Given the description of an element on the screen output the (x, y) to click on. 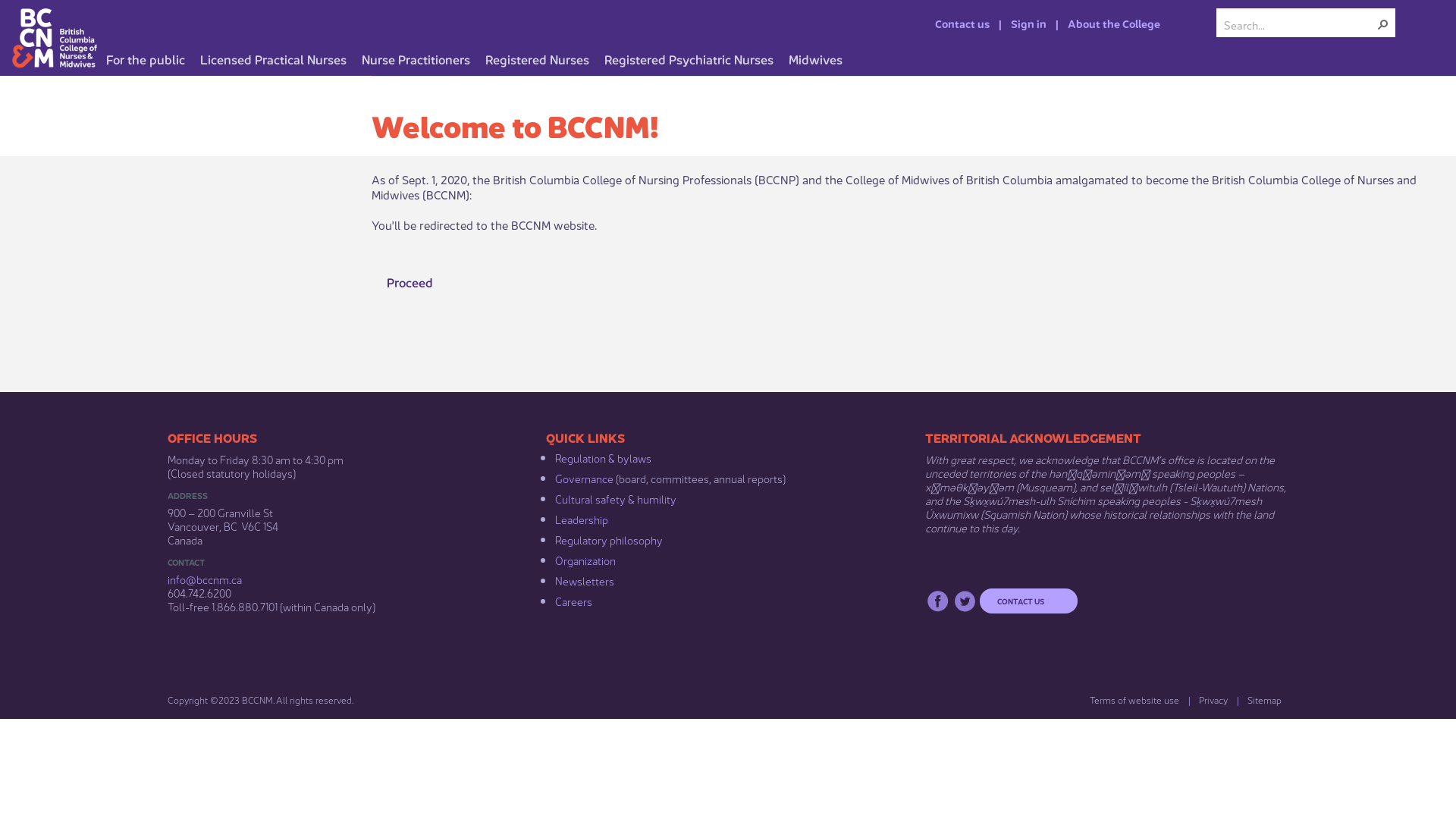
Facebook Element type: text (937, 600)
Regulation & bylaws Element type: text (603, 456)
CONTACT US Element type: text (1028, 600)
Newsletters Element type: text (584, 579)
Twitter Element type: text (964, 600)
Organization Element type: text (585, 559)
Leadership Element type: text (581, 518)
Careers Element type: text (573, 600)
Contact us Element type: text (952, 22)
Privacy Element type: text (1207, 699)
Sitemap Element type: text (1258, 699)
Proceed Element type: text (411, 281)
info@bccnm.ca Element type: text (204, 578)
Search... Element type: hover (1299, 23)
Terms of website use Element type: text (1130, 699)
Search Element type: hover (1382, 23)
Cultural safety & humility Element type: text (615, 497)
Regulatory philosophy Element type: text (608, 538)
Governance Element type: text (584, 477)
Sign in Element type: text (1017, 22)
About the College Element type: text (1103, 22)
